Given the description of an element on the screen output the (x, y) to click on. 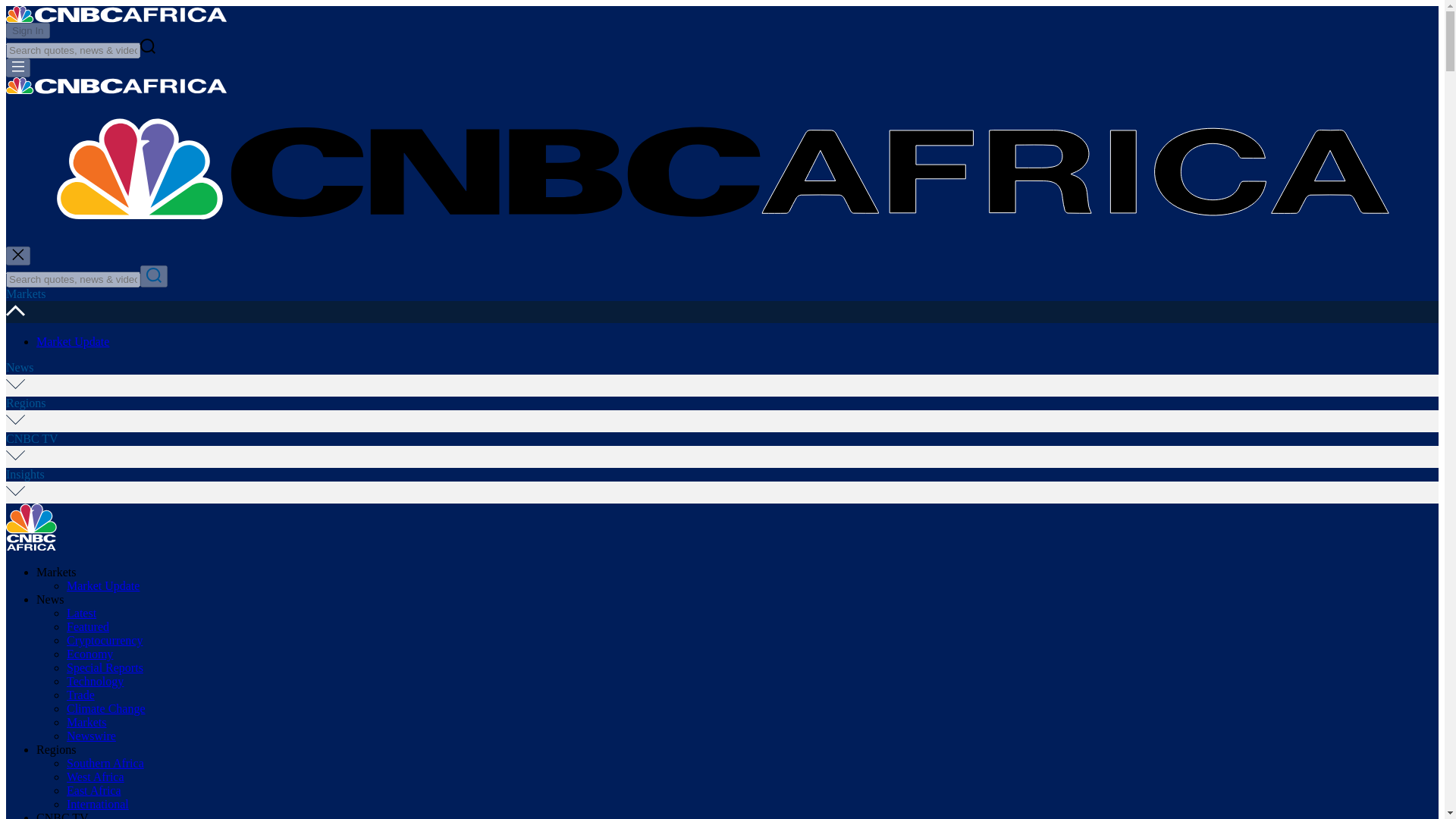
CNBC TV (62, 815)
Open menu (17, 67)
Special Reports (104, 667)
News (50, 599)
Markets (25, 293)
CNBC TV (31, 438)
Economy (89, 653)
West Africa (94, 776)
Featured (87, 626)
Market Update (102, 585)
